Given the description of an element on the screen output the (x, y) to click on. 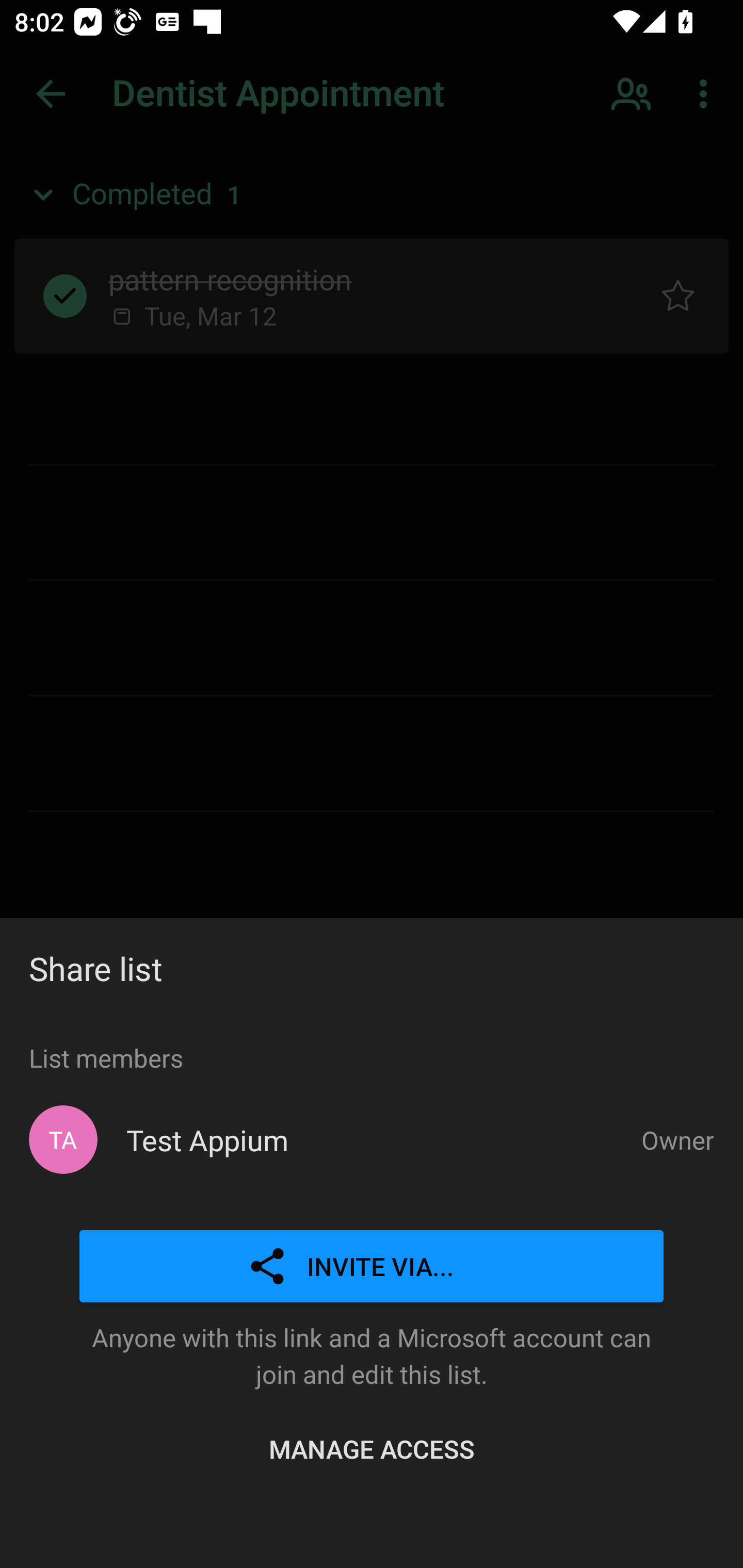
INVITE VIA... (371, 1266)
MANAGE ACCESS (371, 1448)
